Given the description of an element on the screen output the (x, y) to click on. 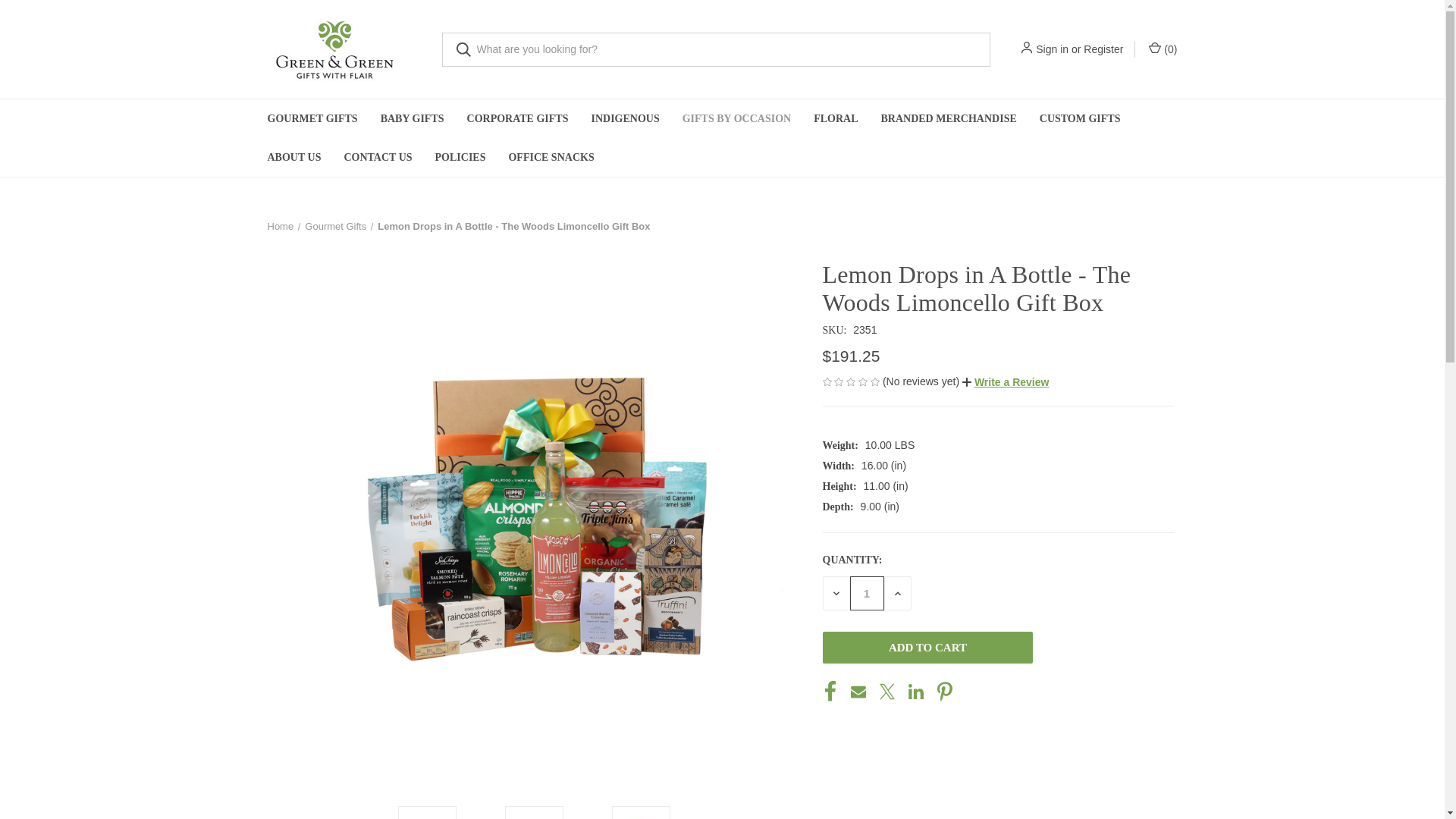
Register (1102, 48)
GIFTS BY OCCASION (736, 118)
Sign in (1051, 48)
GOURMET GIFTS (312, 118)
Add to Cart (927, 647)
BABY GIFTS (412, 118)
INDIGENOUS (624, 118)
1 (865, 593)
CORPORATE GIFTS (517, 118)
